Given the description of an element on the screen output the (x, y) to click on. 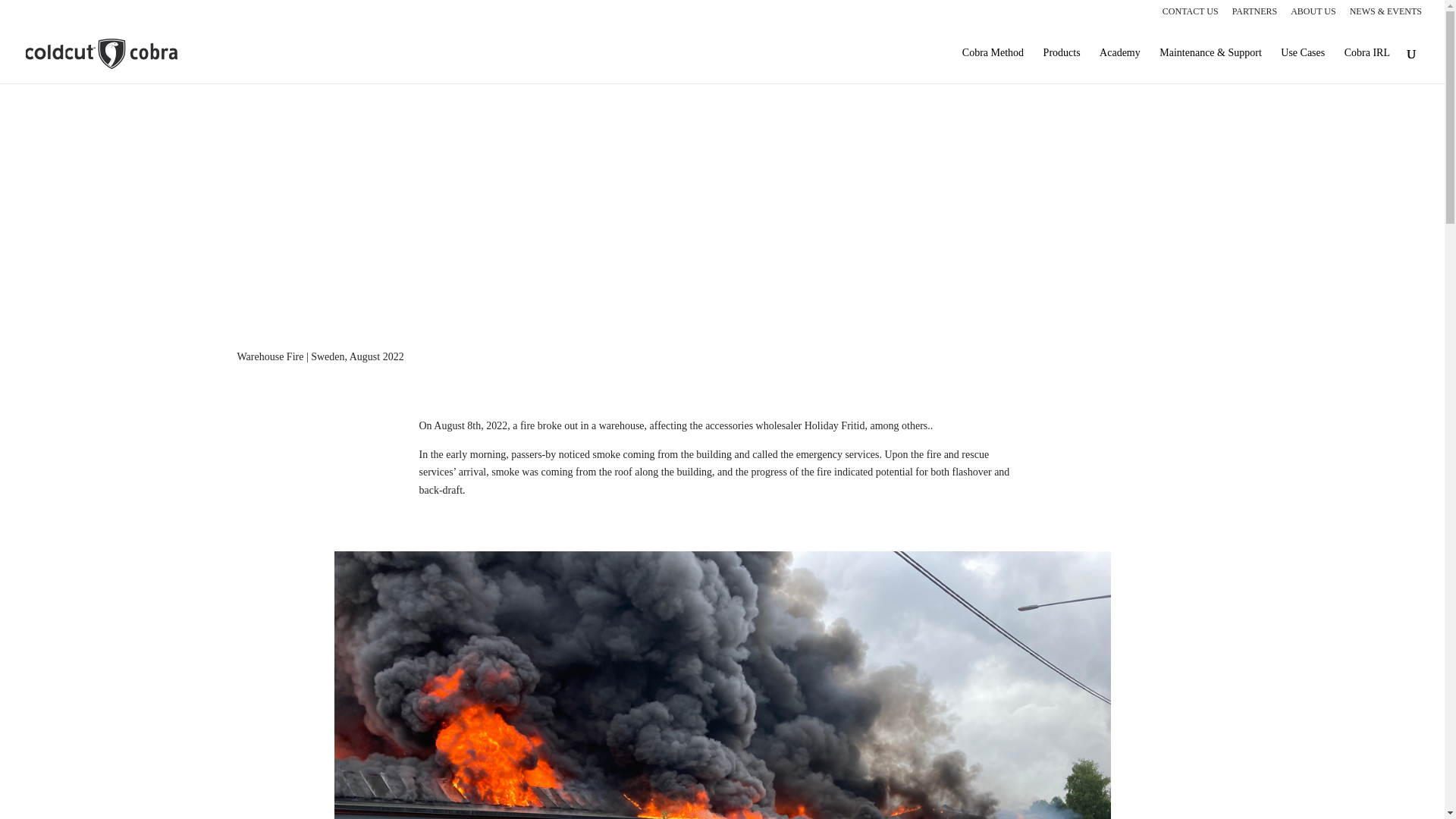
Use Cases (1302, 65)
PARTNERS (1254, 14)
Operational Incidents (722, 193)
Products (1061, 65)
Academy (1119, 65)
ABOUT US (1312, 14)
CONTACT US (1189, 14)
Cobra IRL (1366, 65)
Cobra Method (992, 65)
